Given the description of an element on the screen output the (x, y) to click on. 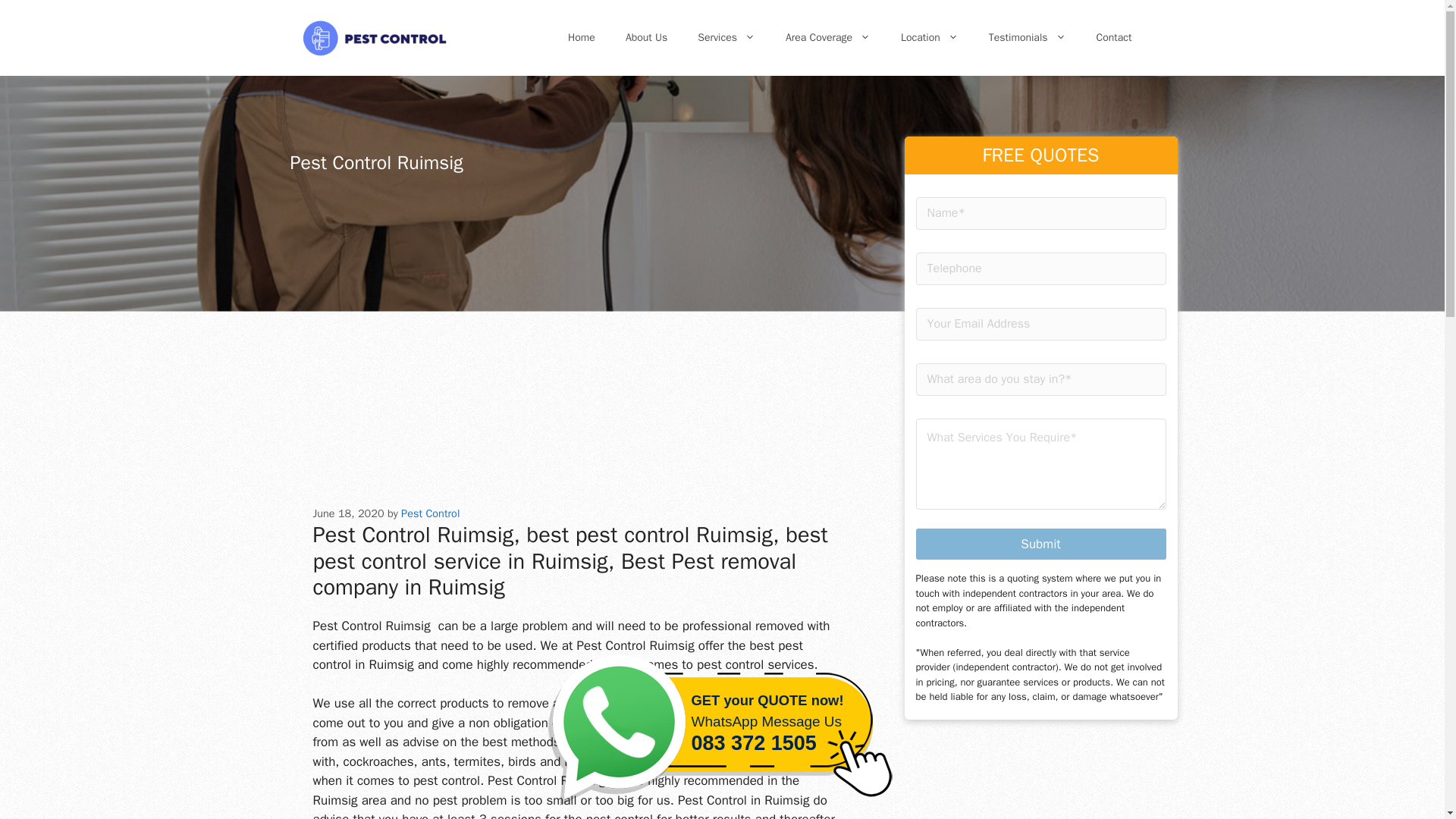
Location (929, 37)
View all posts by Pest Control (430, 513)
Area Coverage (827, 37)
Services (726, 37)
Home (581, 37)
About Us (646, 37)
